Given the description of an element on the screen output the (x, y) to click on. 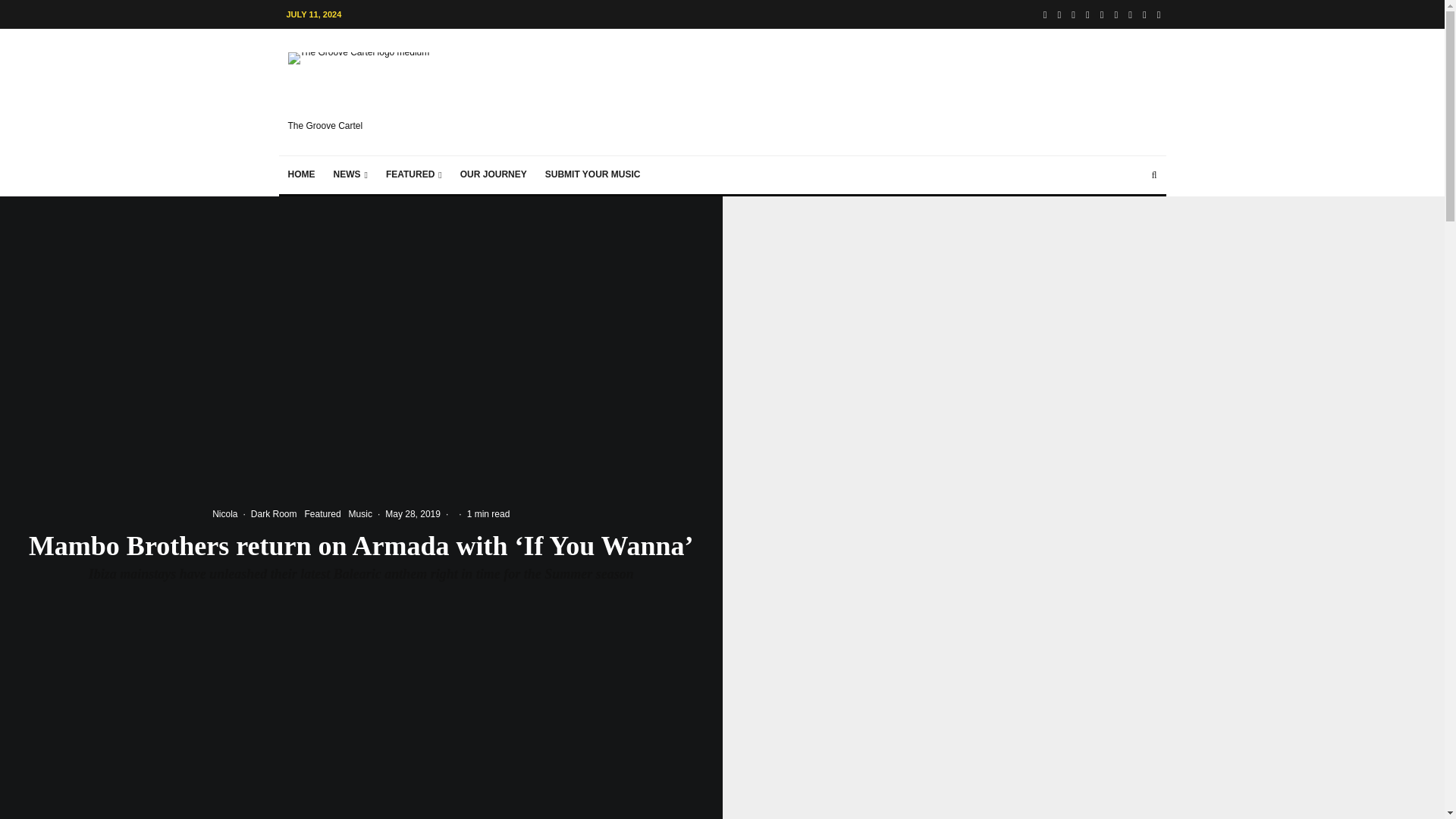
HOME (301, 175)
OUR JOURNEY (493, 175)
The Groove Cartel (371, 91)
FEATURED (414, 175)
NEWS (350, 175)
